Given the description of an element on the screen output the (x, y) to click on. 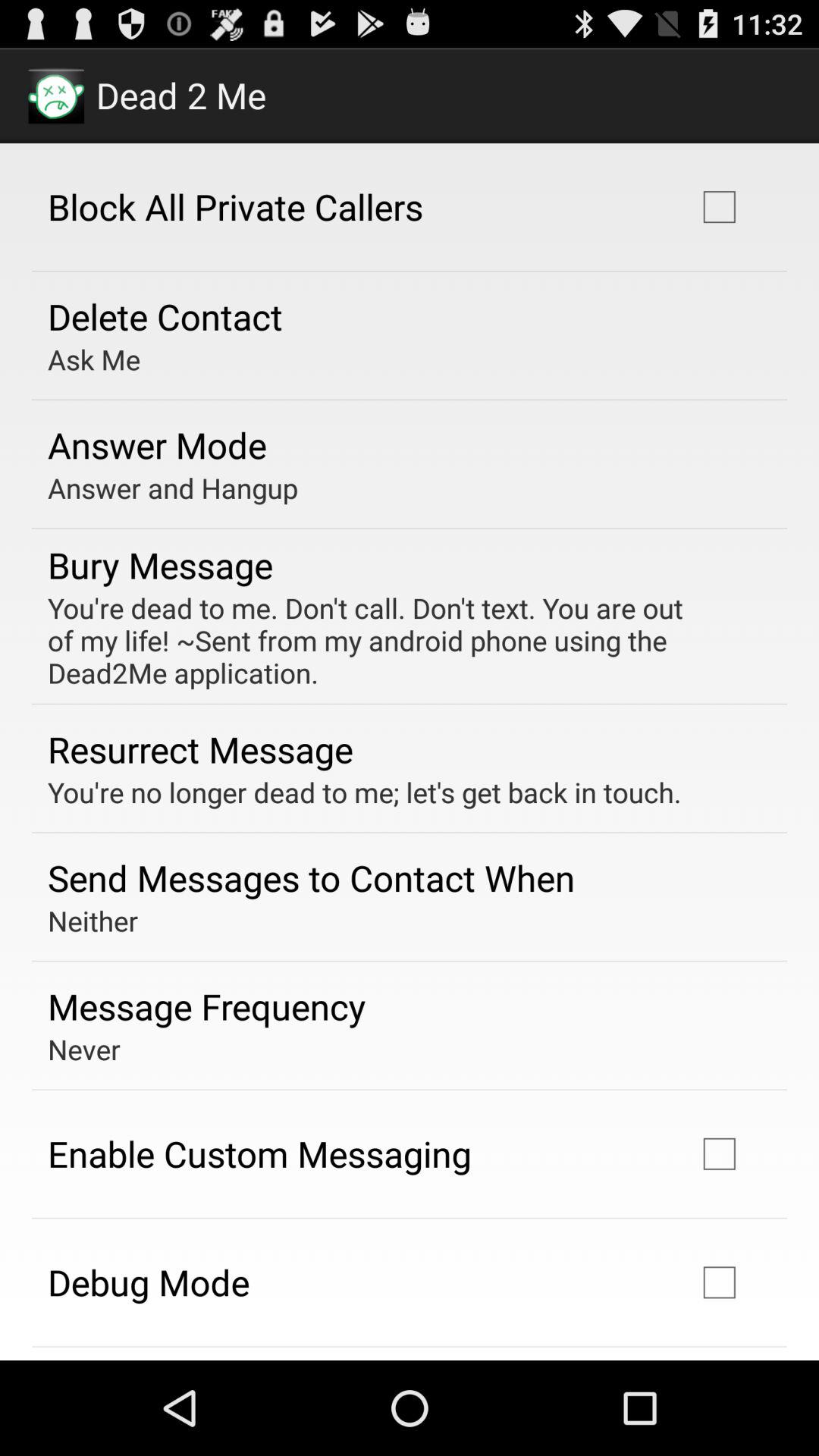
scroll to neither (92, 920)
